Given the description of an element on the screen output the (x, y) to click on. 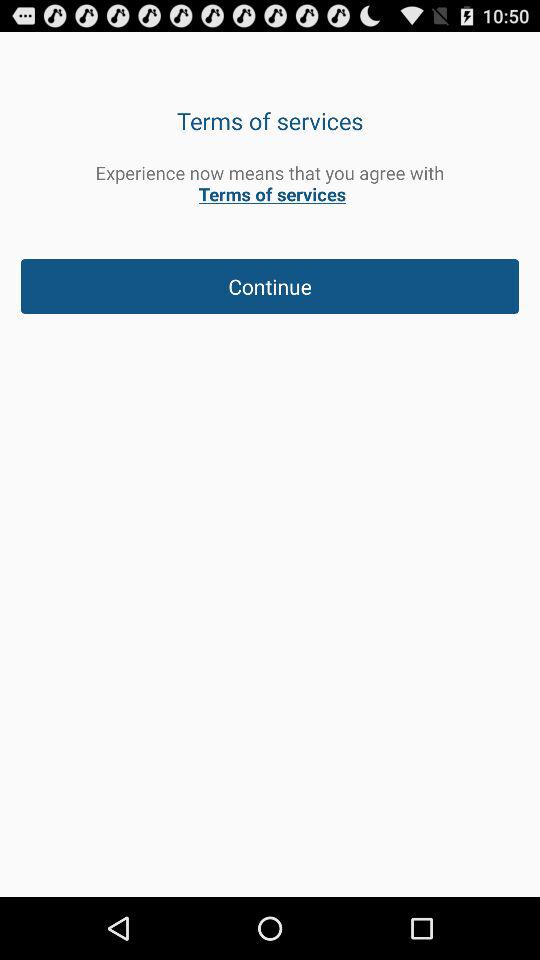
jump until the continue item (270, 286)
